Given the description of an element on the screen output the (x, y) to click on. 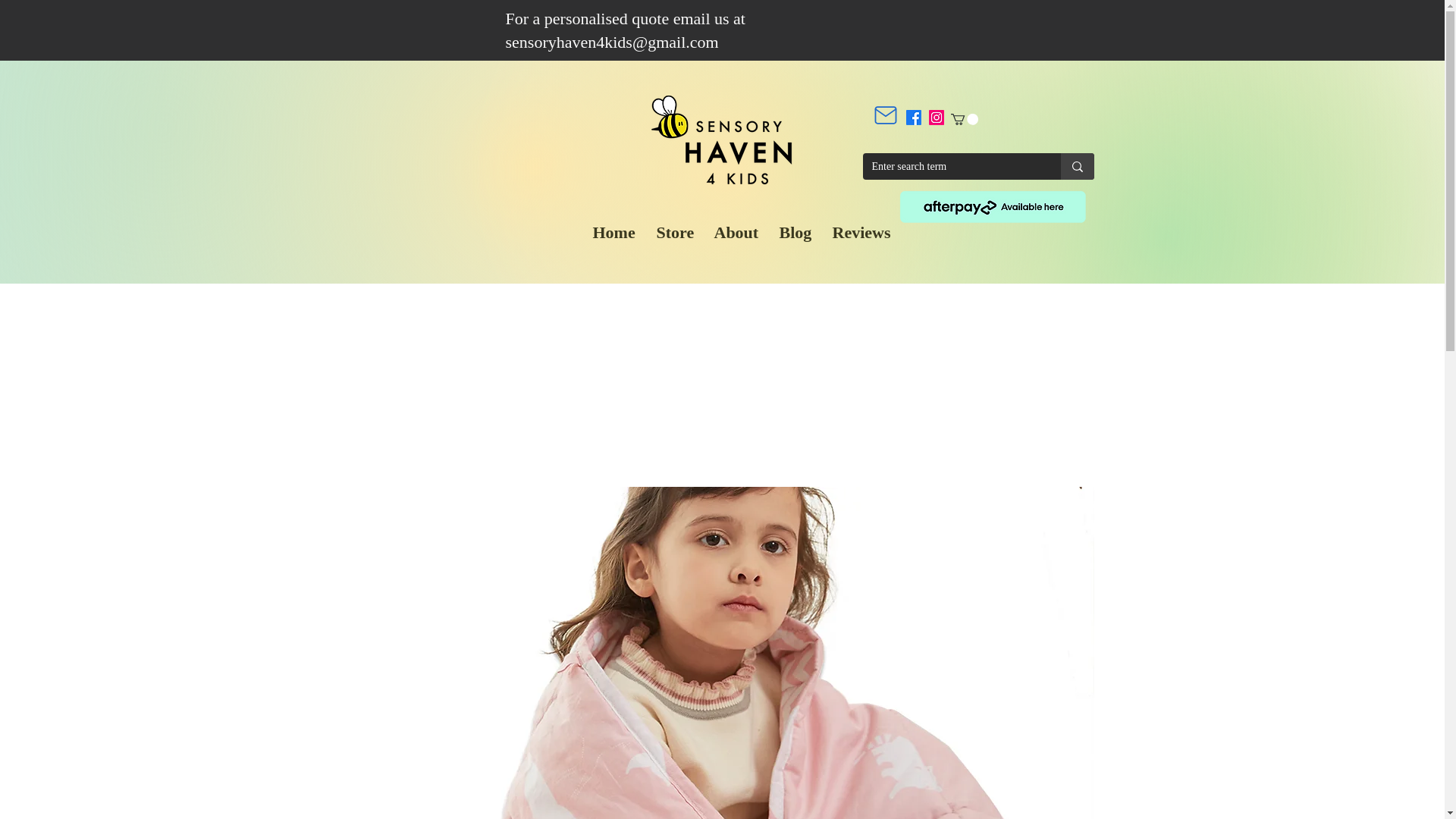
Blog (794, 232)
Reviews (858, 232)
About (734, 232)
Home (612, 232)
